Given the description of an element on the screen output the (x, y) to click on. 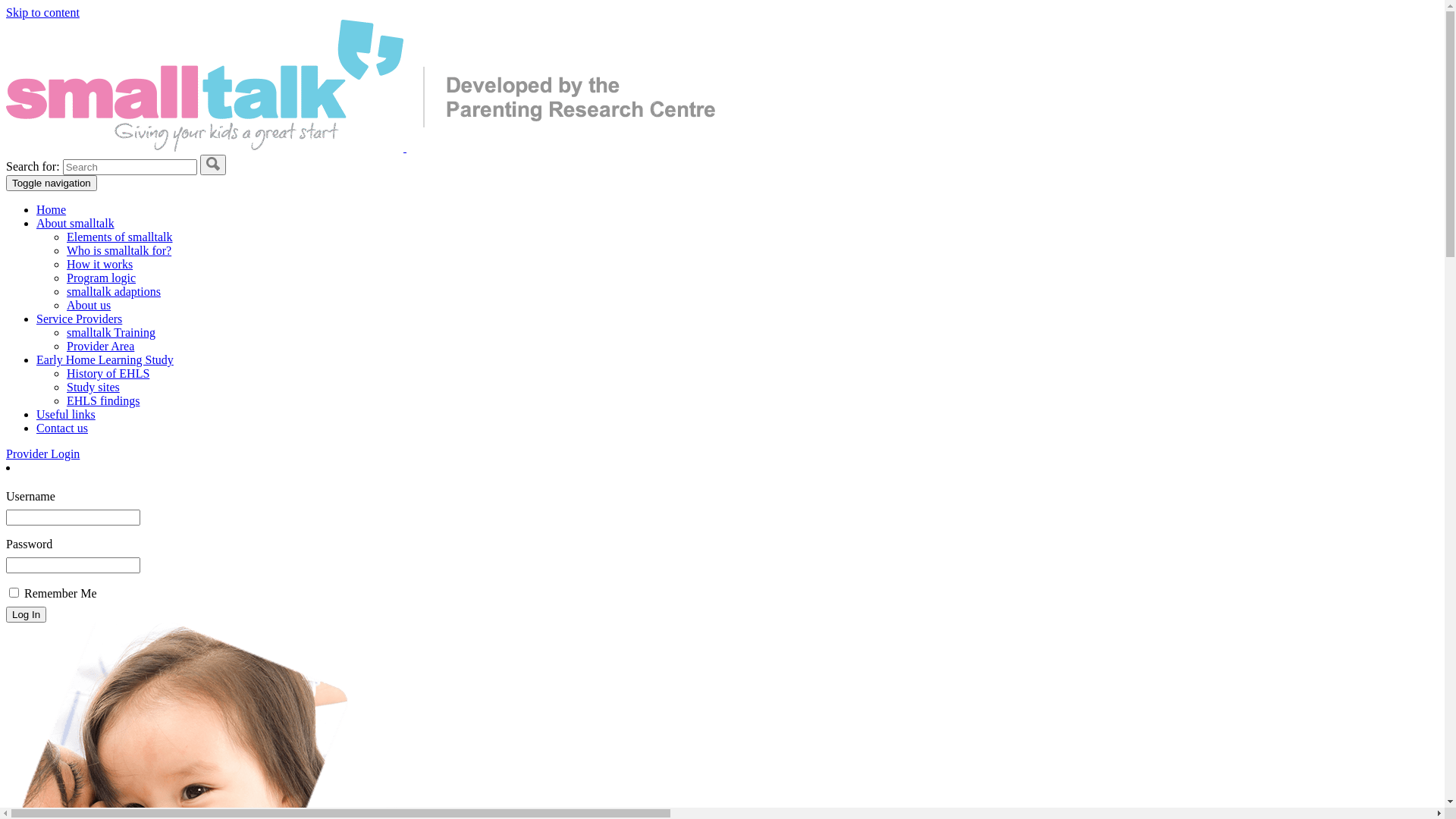
Elements of smalltalk Element type: text (119, 236)
Provider Area Element type: text (100, 345)
Program logic Element type: text (100, 277)
About smalltalk Element type: text (75, 222)
Home Element type: text (50, 209)
Early Home Learning Study Element type: text (104, 359)
Provider Login Element type: text (42, 453)
How it works Element type: text (99, 263)
Service Providers Element type: text (79, 318)
Contact us Element type: text (61, 427)
smalltalk Training Element type: text (110, 332)
About us Element type: text (88, 304)
smalltalk adaptions Element type: text (113, 291)
EHLS findings Element type: text (102, 400)
Toggle navigation Element type: text (51, 183)
Useful links Element type: text (65, 413)
Skip to content Element type: text (42, 12)
History of EHLS Element type: text (107, 373)
Who is smalltalk for? Element type: text (118, 250)
Search for: Element type: hover (129, 167)
Log In Element type: text (26, 614)
Study sites Element type: text (92, 386)
